Given the description of an element on the screen output the (x, y) to click on. 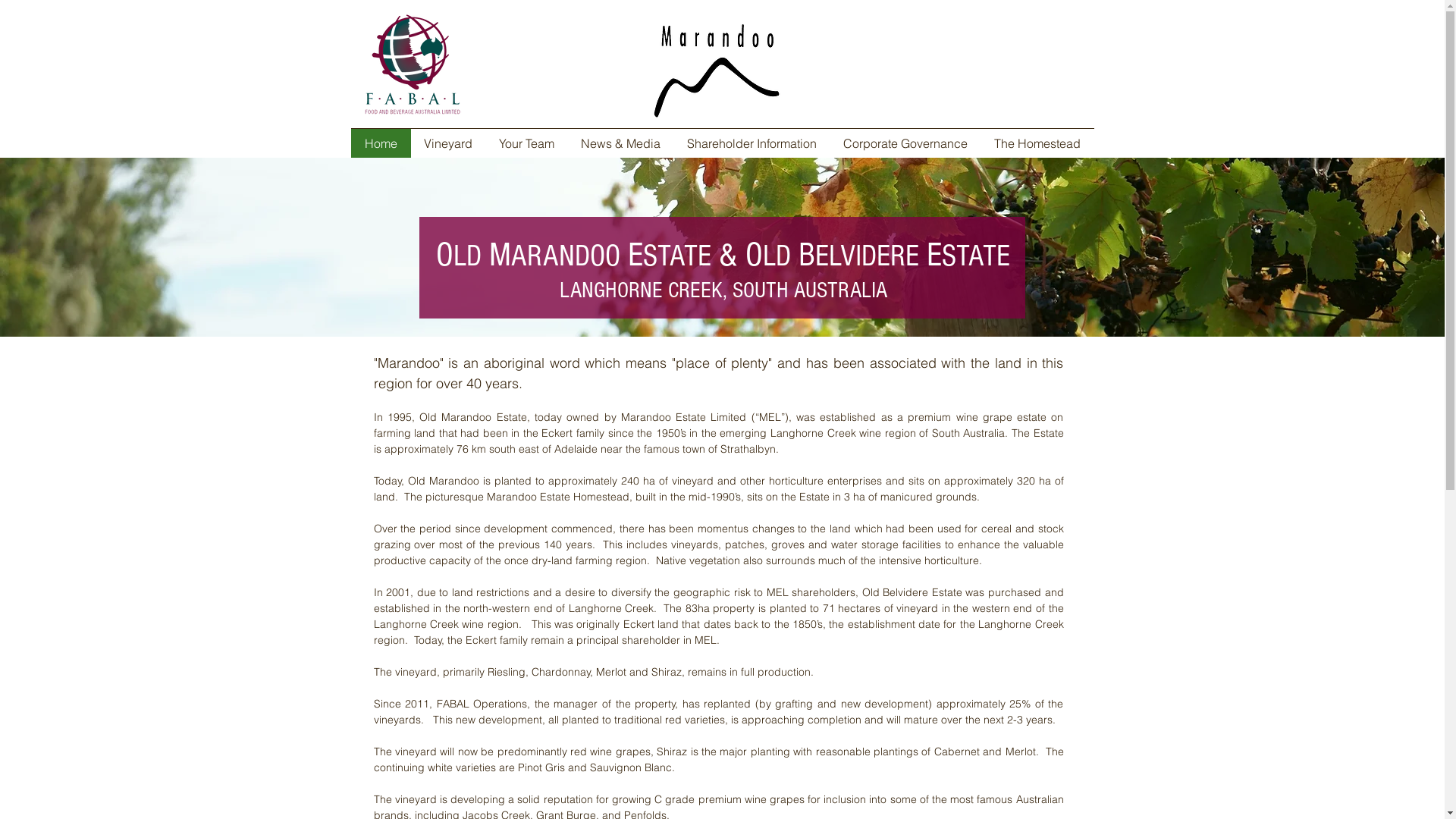
Vineyard Element type: text (448, 142)
MEL Logo.png Element type: hover (717, 71)
News & Media Element type: text (620, 142)
Shareholder Information Element type: text (751, 142)
Your Team Element type: text (526, 142)
Corporate Governance Element type: text (904, 142)
Ops Logo.png Element type: hover (411, 64)
Home Element type: text (380, 142)
The Homestead Element type: text (1037, 142)
